Given the description of an element on the screen output the (x, y) to click on. 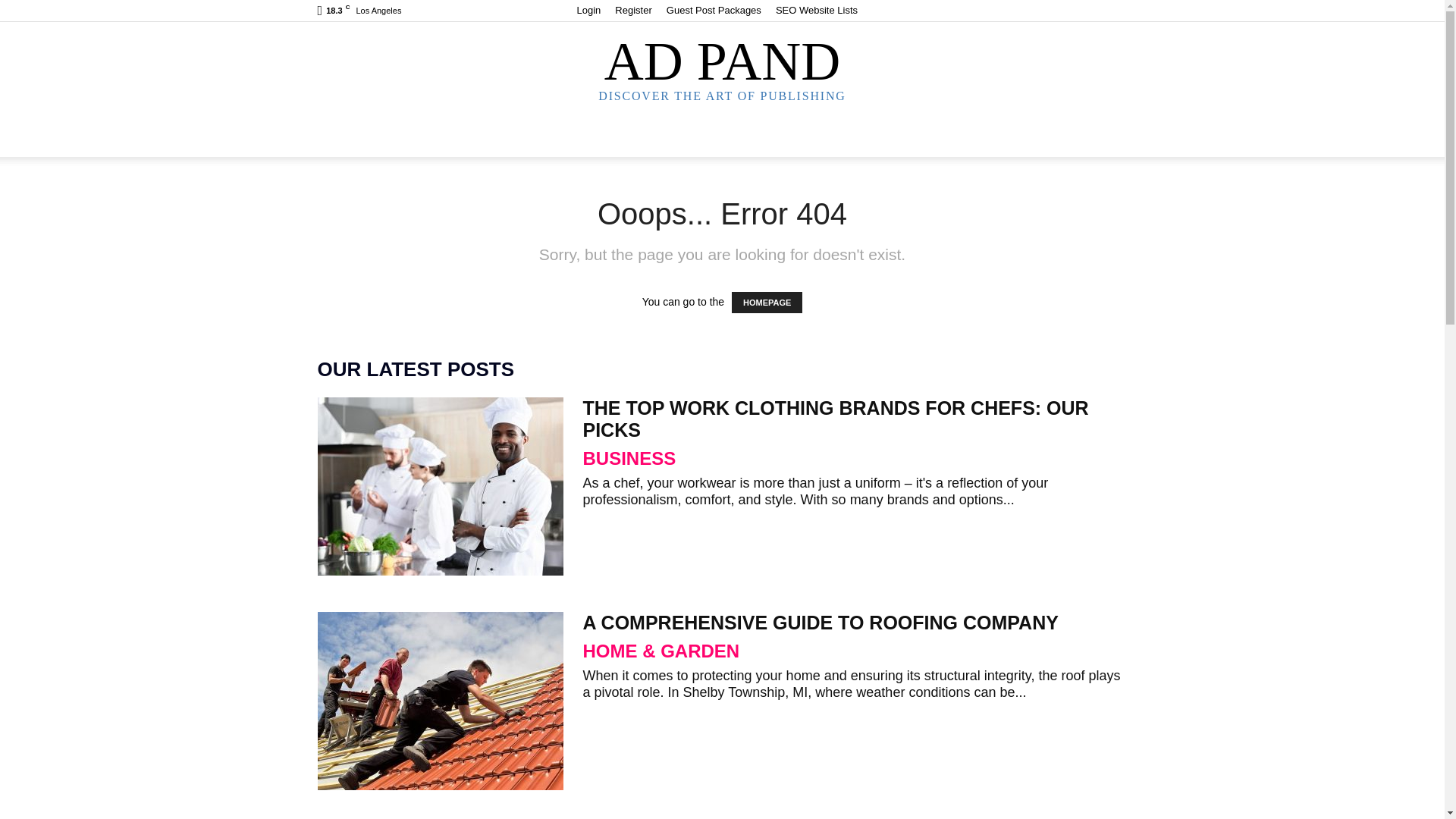
Guest Post Packages (713, 9)
Login (587, 9)
SEO Website Lists (816, 9)
Youtube (1114, 10)
Pinterest (1065, 10)
A Comprehensive Guide to Roofing Company (439, 700)
TikTok (1090, 10)
The Top Work Clothing Brands for Chefs: Our Picks (439, 486)
Linkedin (1040, 10)
Instagram (1015, 10)
